Given the description of an element on the screen output the (x, y) to click on. 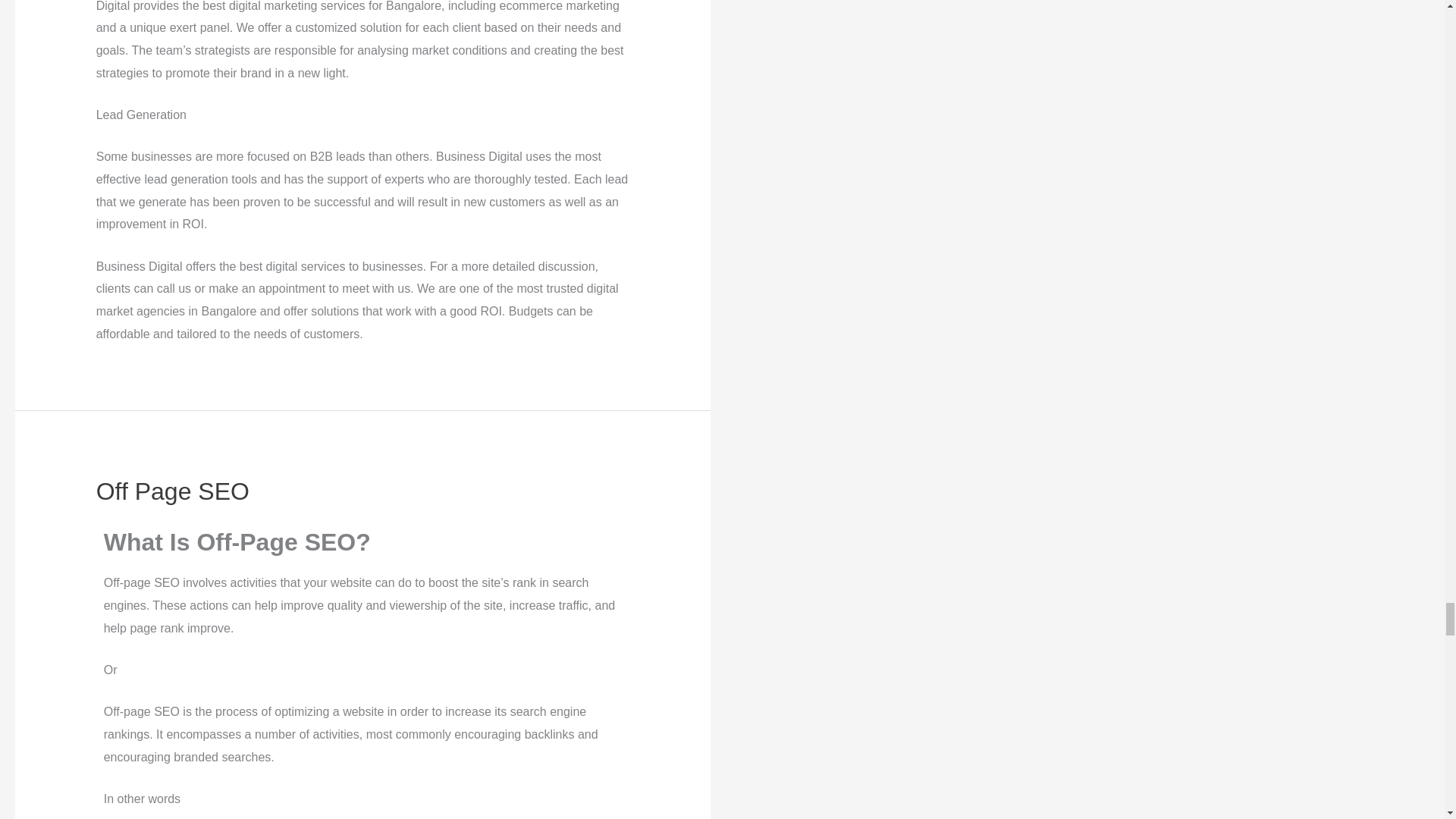
Off Page SEO (172, 491)
